Given the description of an element on the screen output the (x, y) to click on. 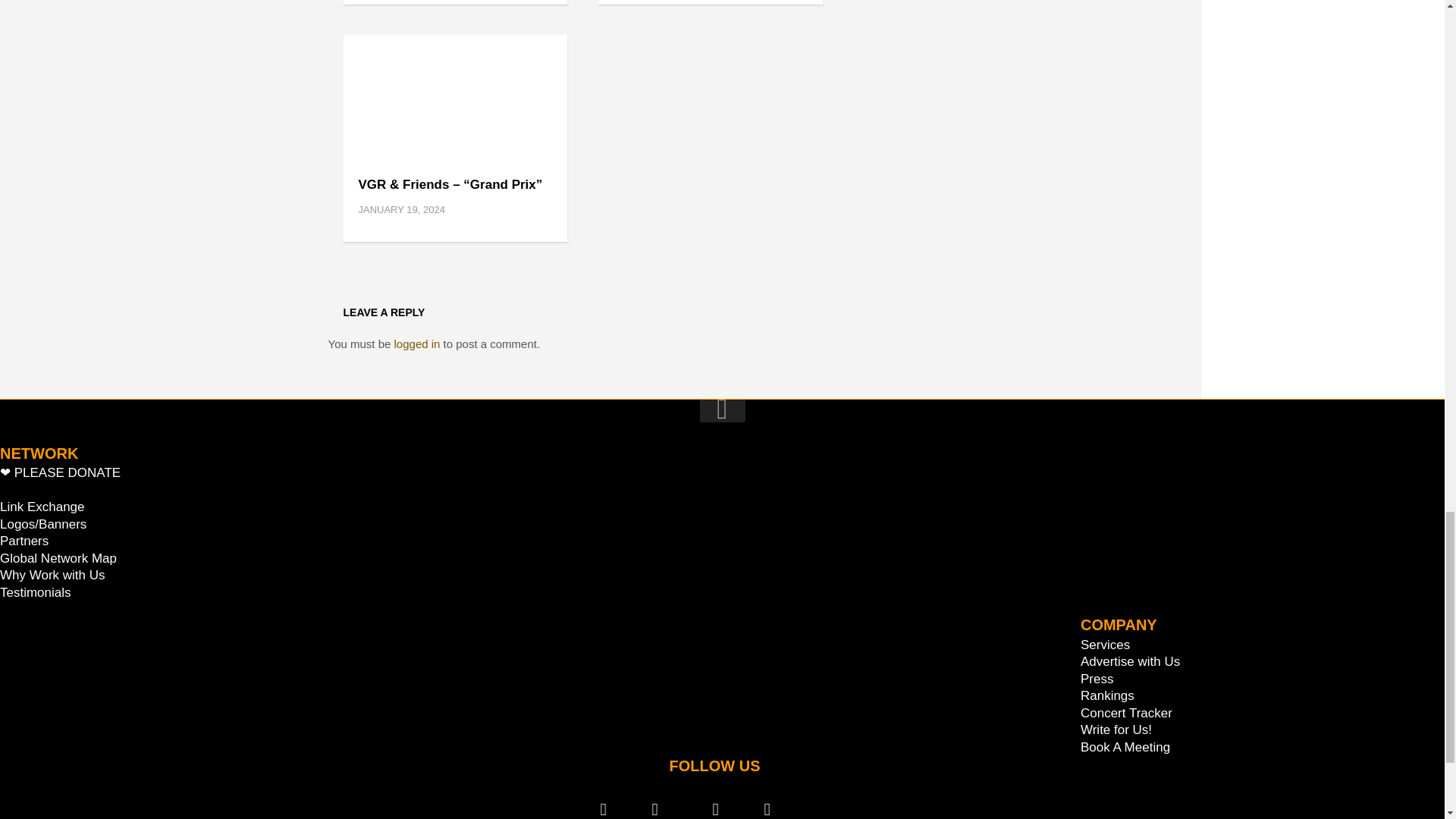
YouTube (721, 802)
Facebook (773, 802)
SoundCloud (665, 802)
Instagram (609, 802)
